Given the description of an element on the screen output the (x, y) to click on. 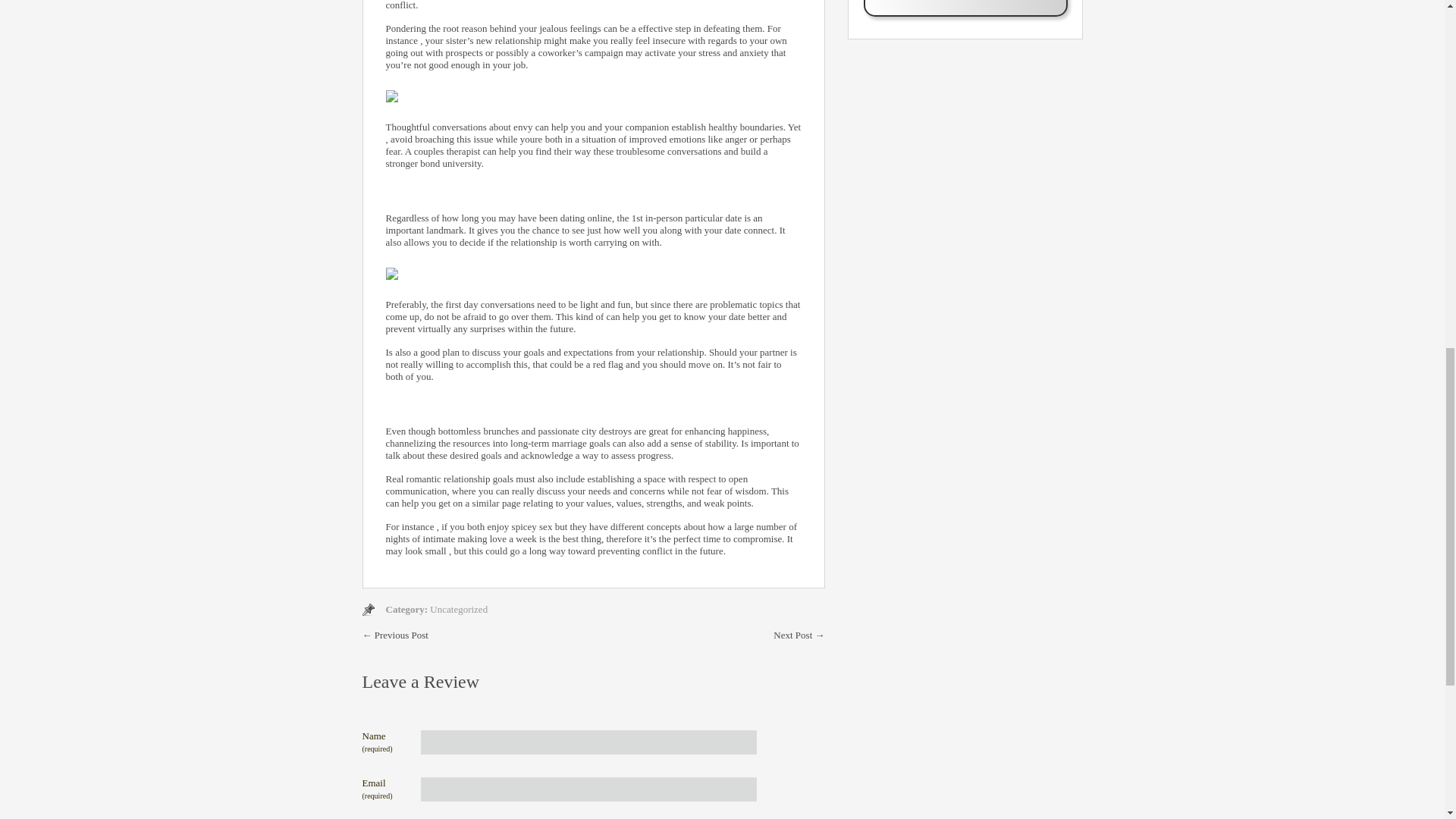
Uncategorized (458, 609)
